Given the description of an element on the screen output the (x, y) to click on. 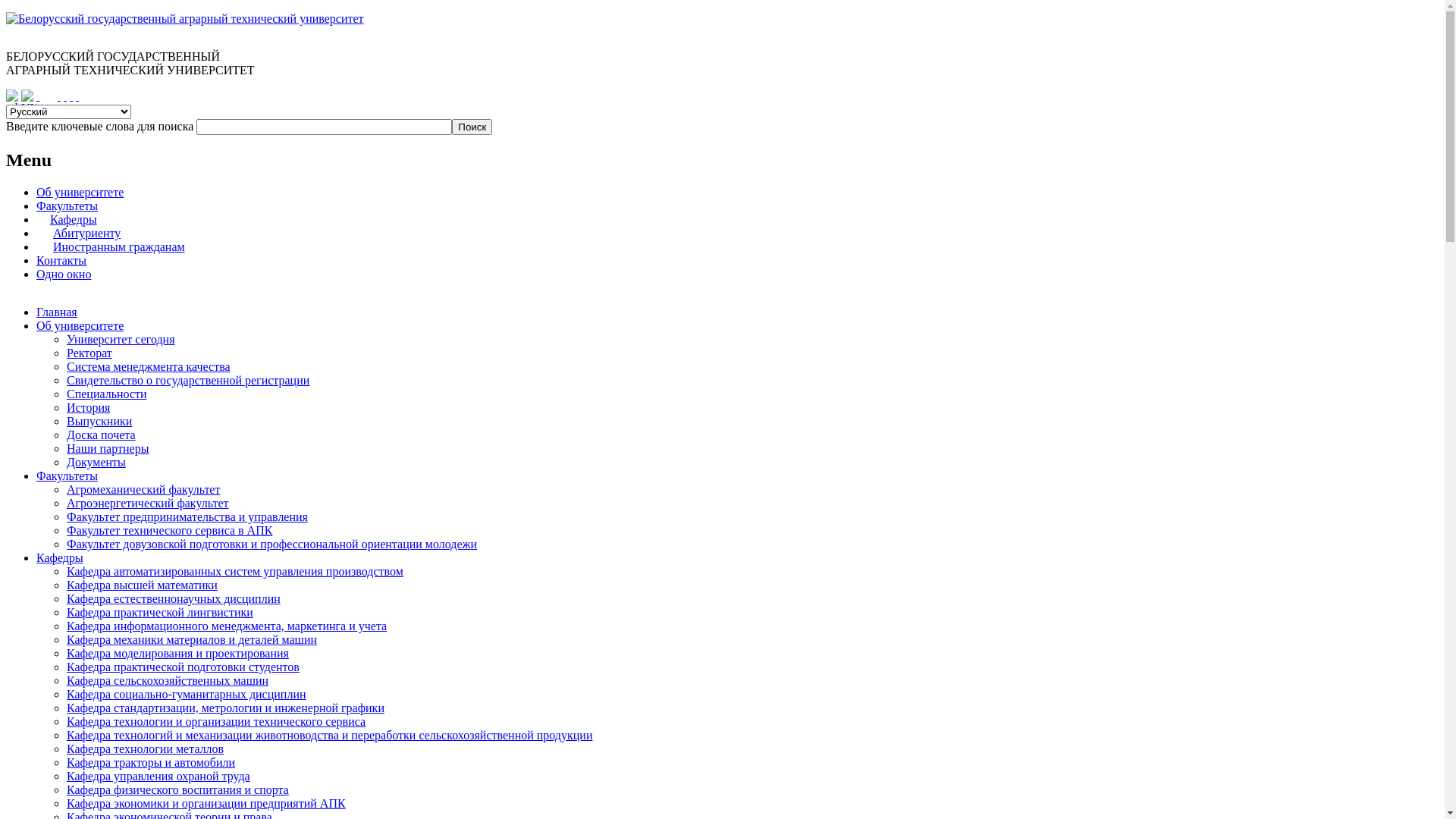
  Element type: text (70, 95)
  Element type: text (64, 95)
  Element type: text (37, 95)
  Element type: text (58, 95)
  Element type: text (76, 95)
